Given the description of an element on the screen output the (x, y) to click on. 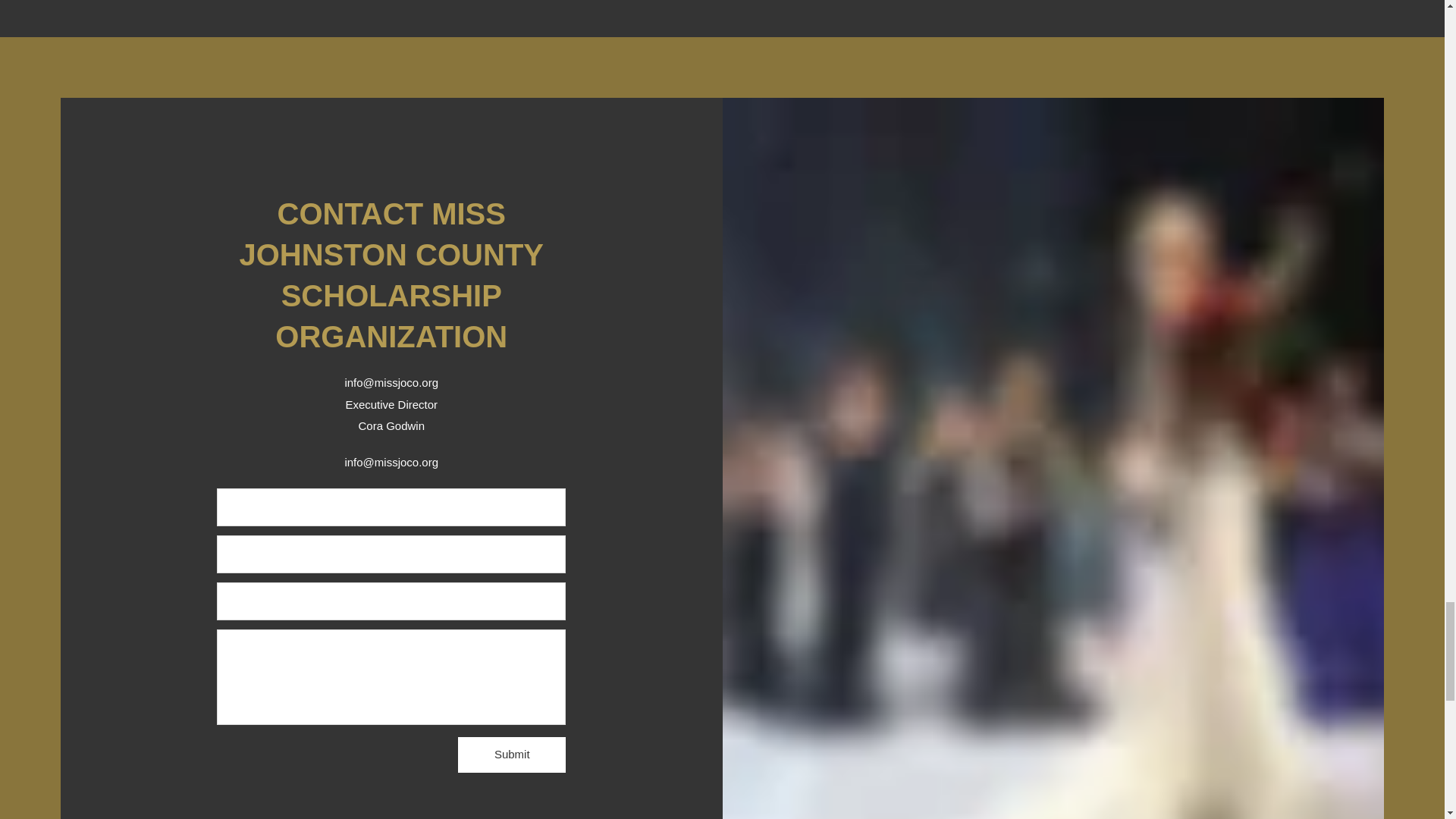
Submit (512, 755)
